Given the description of an element on the screen output the (x, y) to click on. 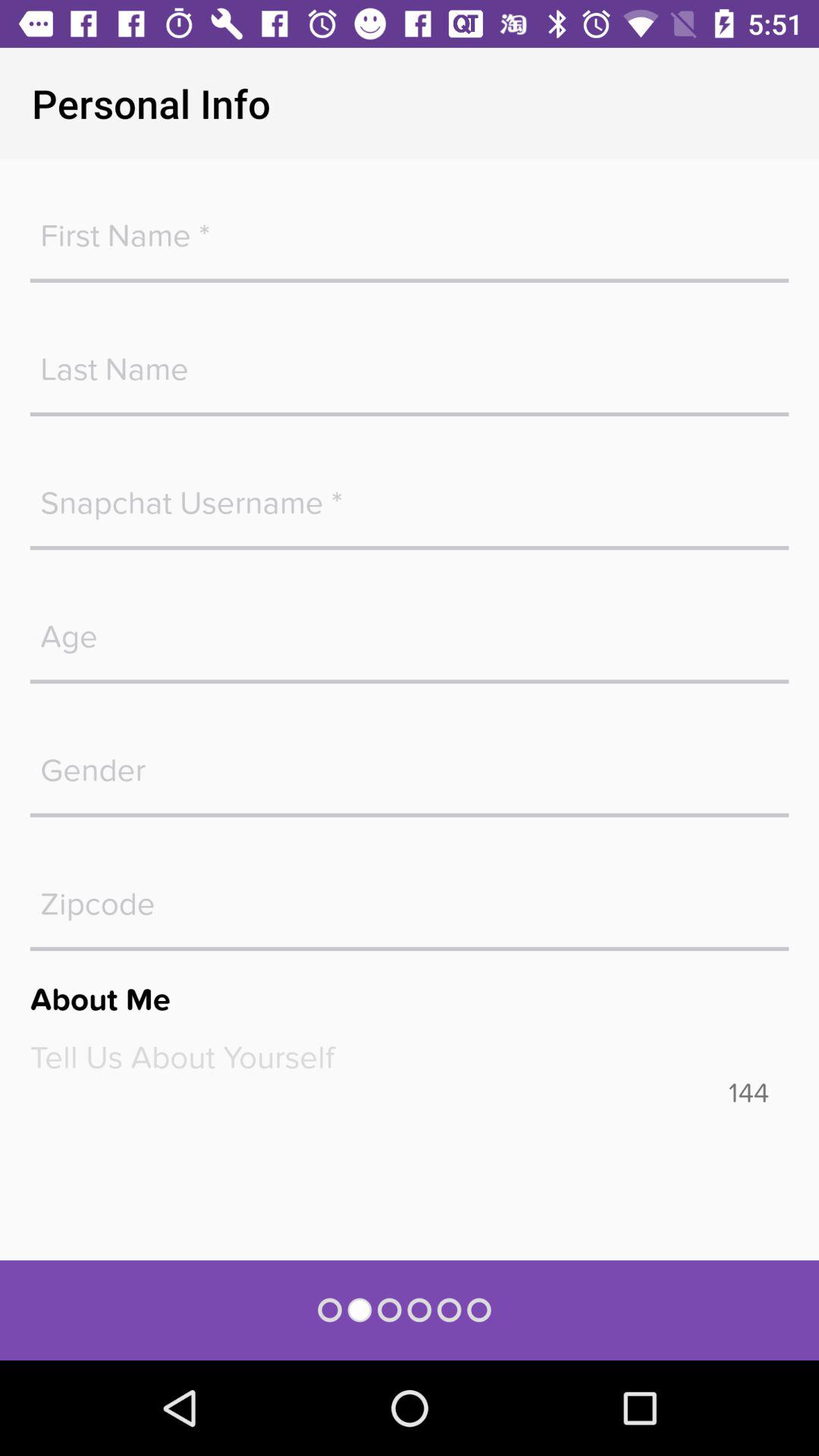
blank space (409, 227)
